Given the description of an element on the screen output the (x, y) to click on. 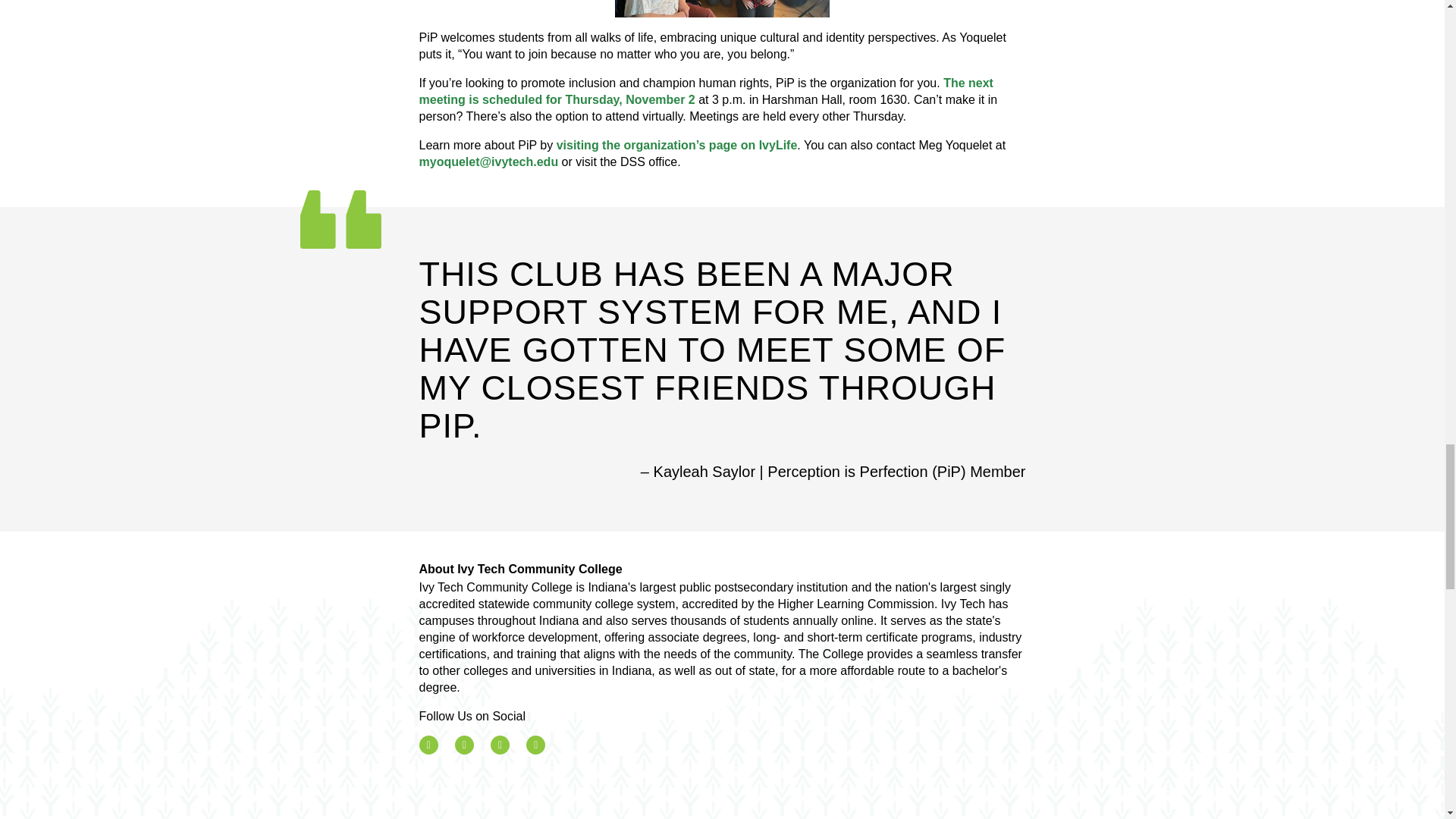
Facebook (428, 744)
Twitter (464, 744)
LinkedIn (534, 744)
Instagram (499, 744)
